Given the description of an element on the screen output the (x, y) to click on. 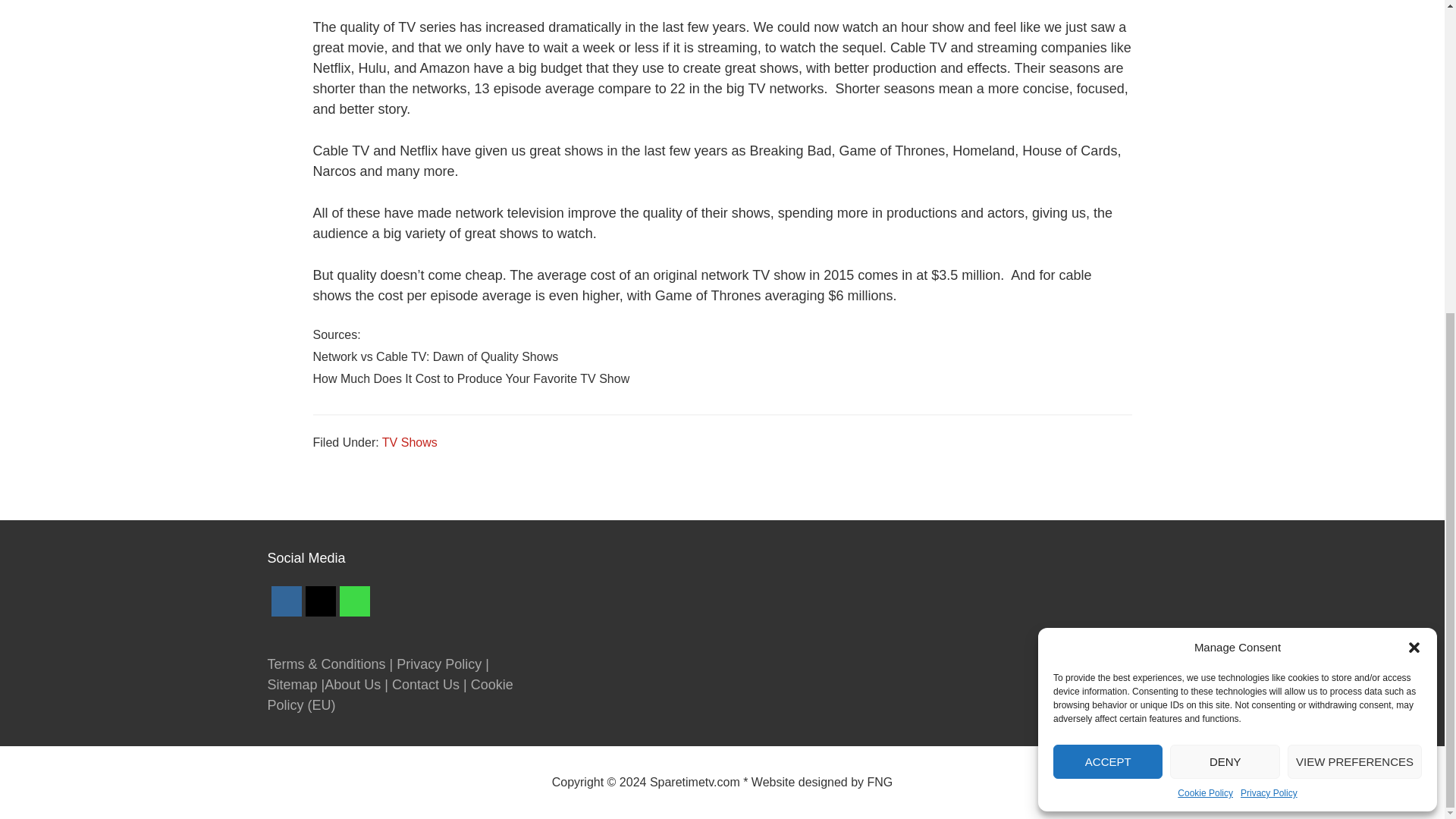
Cookie Policy (1205, 294)
VIEW PREFERENCES (1354, 262)
ACCEPT (1106, 262)
Facebook (284, 600)
TV Shows (409, 441)
Privacy Policy (1268, 294)
DENY (1224, 262)
